Given the description of an element on the screen output the (x, y) to click on. 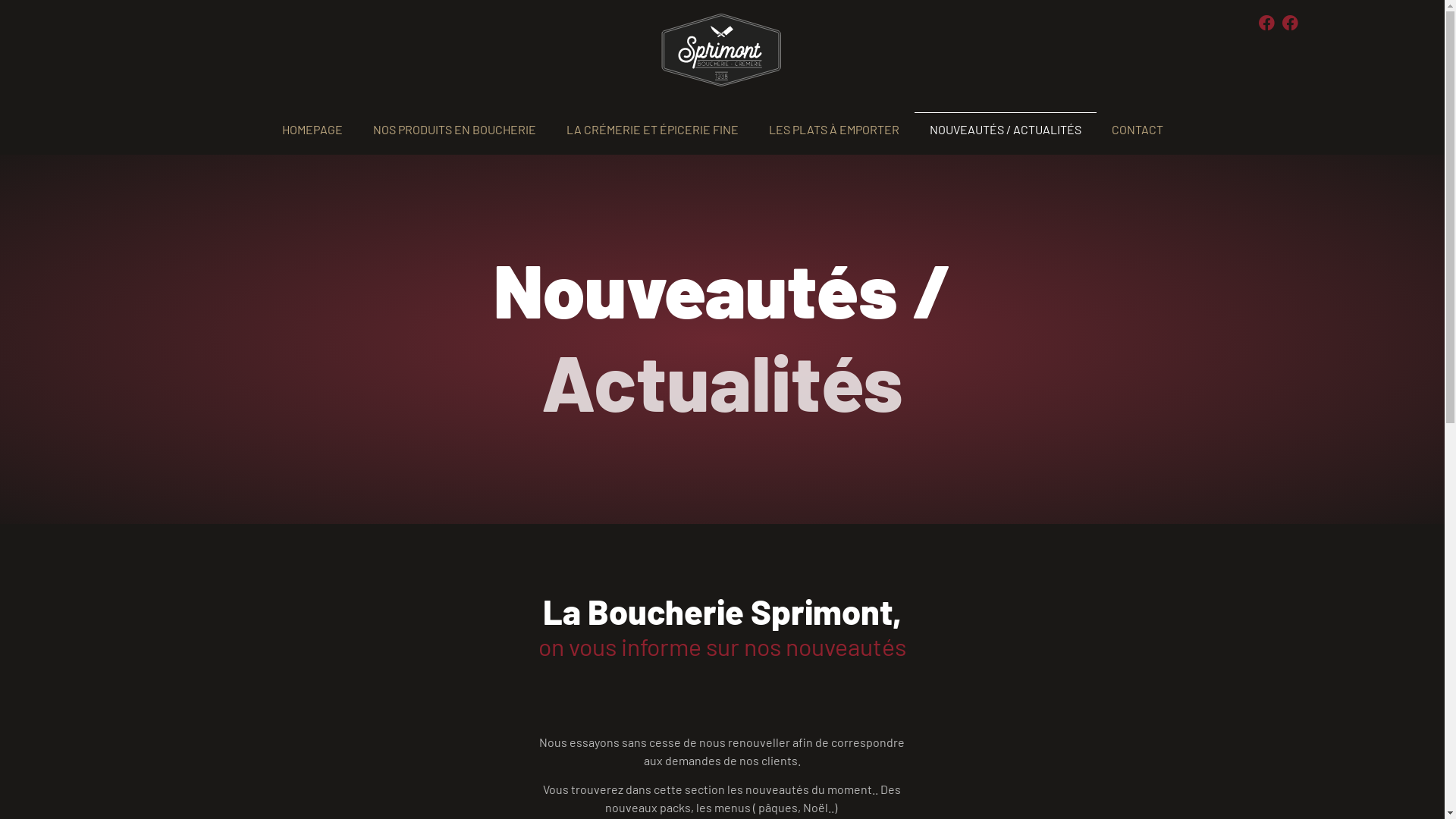
HOMEPAGE Element type: text (311, 129)
CONTACT Element type: text (1137, 129)
NOS PRODUITS EN BOUCHERIE Element type: text (454, 129)
